Given the description of an element on the screen output the (x, y) to click on. 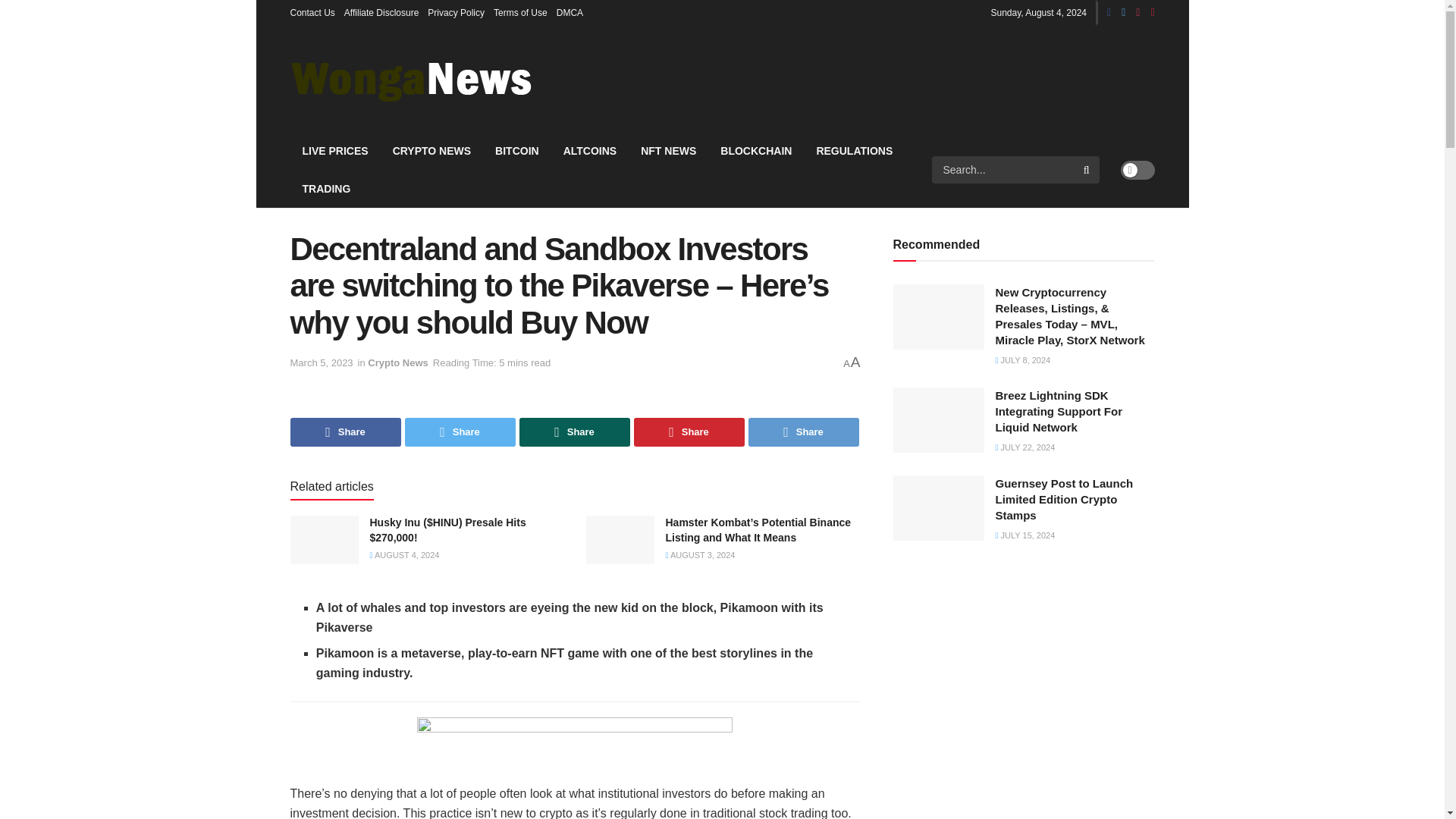
REGULATIONS (853, 150)
Terms of Use (520, 12)
Privacy Policy (456, 12)
BITCOIN (517, 150)
Affiliate Disclosure (381, 12)
LIVE PRICES (334, 150)
NFT NEWS (667, 150)
DMCA (569, 12)
Contact Us (311, 12)
ALTCOINS (589, 150)
